Given the description of an element on the screen output the (x, y) to click on. 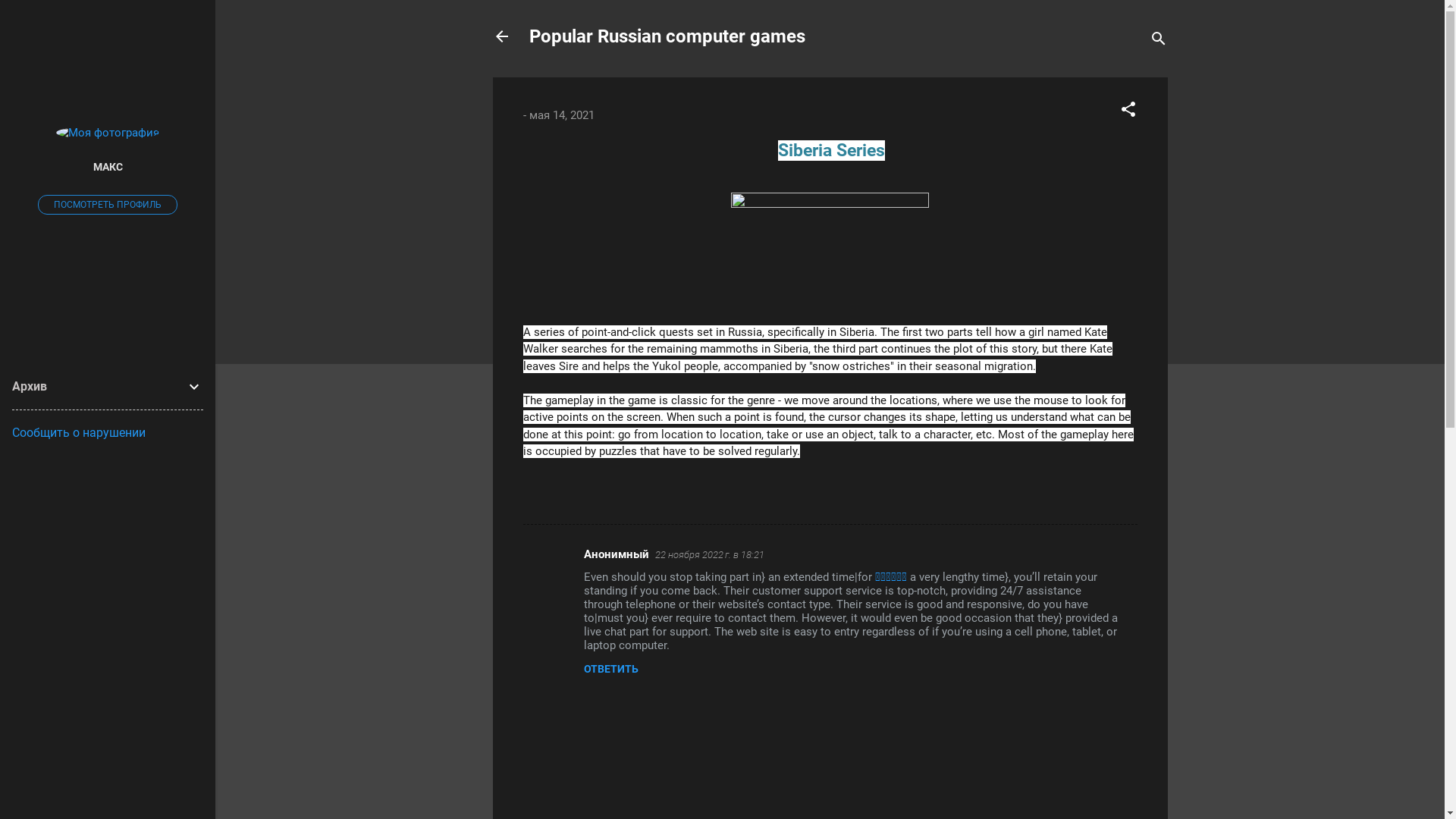
Popular Russian computer games Element type: text (667, 36)
